Given the description of an element on the screen output the (x, y) to click on. 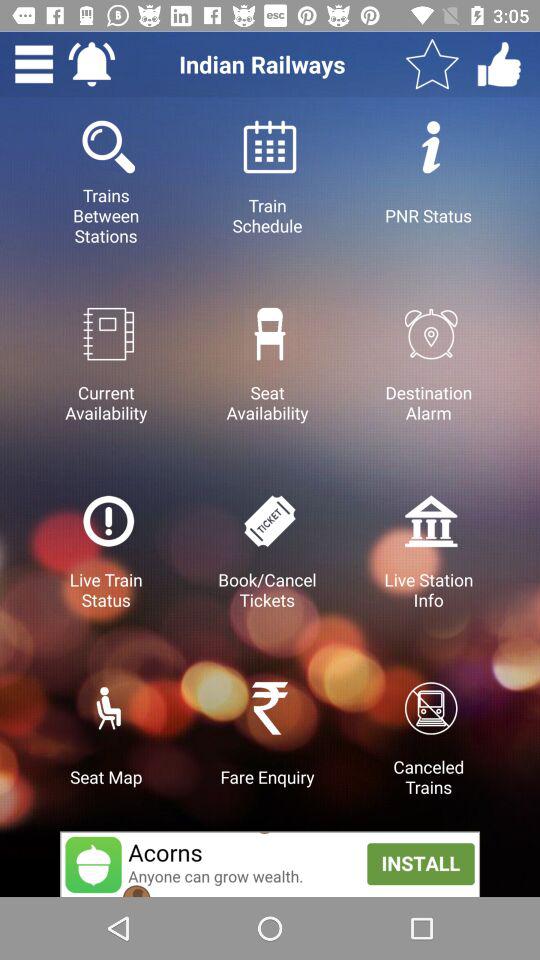
click notification (91, 64)
